Given the description of an element on the screen output the (x, y) to click on. 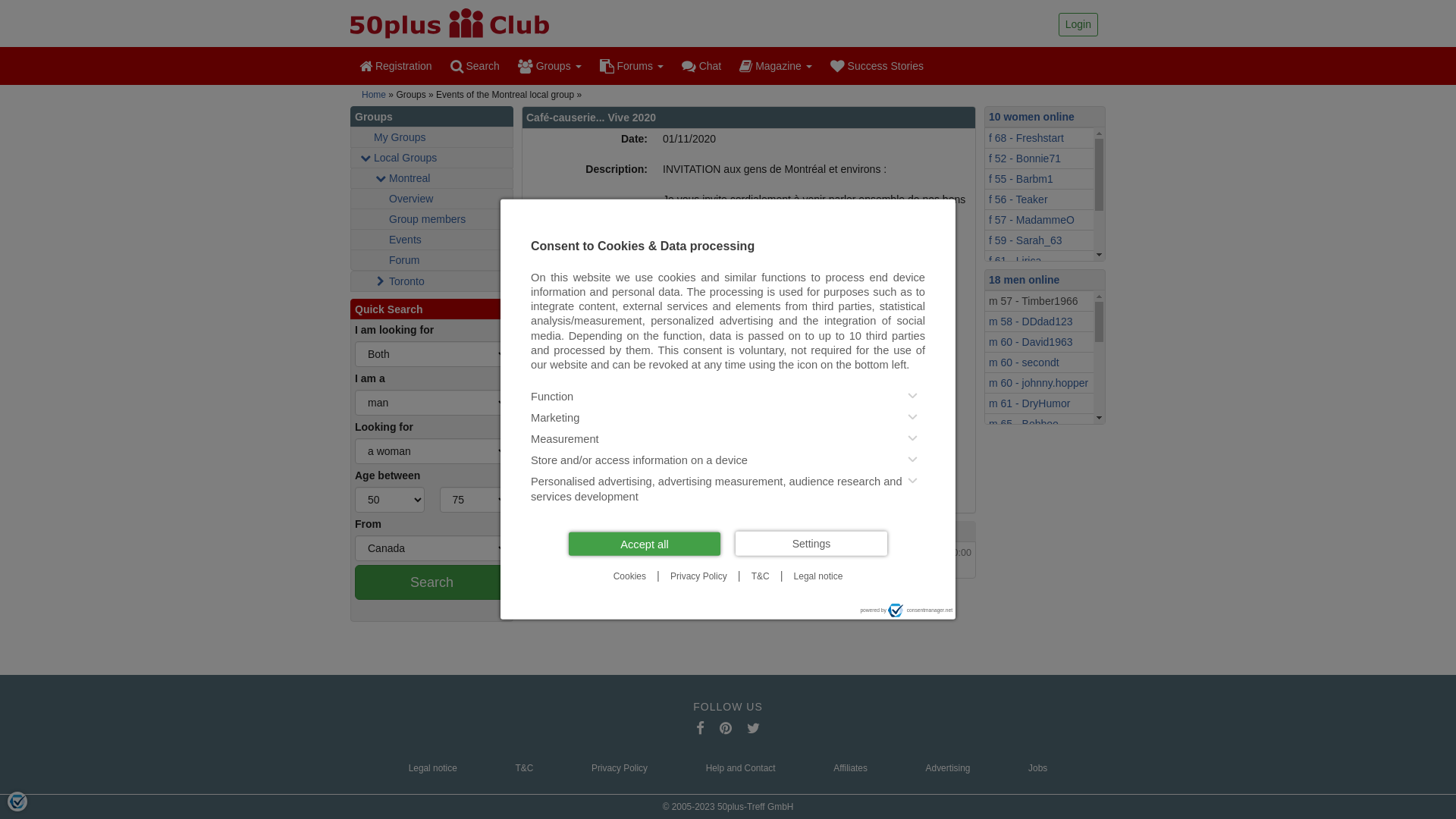
m 65 - tdbrad Element type: text (1039, 587)
Registration Element type: text (395, 65)
m 58 - DDdad123 Element type: text (1039, 321)
f 57 - MadammeO Element type: text (1039, 219)
Magazine Element type: text (775, 65)
Privacy Policy Element type: text (619, 768)
f 61 - Lirica Element type: text (1039, 260)
Advertising Element type: text (947, 768)
m 60 - johnny.hopper Element type: text (1039, 382)
Success Stories Element type: text (876, 65)
11/30/-0001 00:00 Element type: text (748, 567)
Search Element type: text (431, 581)
f 52 - Bonnie71 Element type: text (1039, 158)
Search Element type: text (474, 65)
m 76 - davdei Element type: text (1039, 648)
m 70 - Garygg Element type: text (1039, 628)
Home Element type: text (373, 94)
Forums Element type: text (631, 65)
Login Element type: text (1078, 24)
Quick Search Element type: text (431, 308)
f 68 - Freshstart Element type: text (1039, 137)
f 55 - Barbm1 Element type: text (1039, 178)
m 65 - Bobboo Element type: text (1039, 423)
m 65 - 8675309 Element type: text (1039, 566)
m 57 - Timber1966 Element type: text (1039, 300)
10 women online Element type: text (1031, 116)
Legal notice Element type: text (432, 768)
18 men online Element type: text (1023, 279)
Folow us on Twitter Element type: hover (753, 727)
Overview Element type: text (431, 198)
Jobs Element type: text (1037, 768)
Forum Element type: text (431, 259)
Affiliates Element type: text (850, 768)
f 71 - Whitekayak Element type: text (1039, 321)
f 56 - Teaker Element type: text (1039, 199)
m 57 - Giovleo Element type: text (1039, 546)
Folow us on Facebook Element type: hover (700, 727)
m 67 - JohnnyH1956 Element type: text (1039, 607)
Group members Element type: text (431, 218)
My Groups Element type: text (431, 136)
Local Groups Element type: text (431, 157)
Folow us on Pinterest Element type: hover (725, 727)
m 87 - PeterGB Element type: text (1039, 505)
Help and Contact Element type: text (740, 768)
m 60 - David1963 Element type: text (1039, 341)
Montreal Element type: text (431, 177)
Groups Element type: text (549, 65)
Events Element type: text (431, 239)
T&C Element type: text (523, 768)
m 67 - Frenchcyclist Element type: text (1039, 464)
f 63 - portechance Element type: text (1039, 280)
m 57 - Guitarman66 Element type: text (1039, 525)
m 65 - Jimmyjoe111 Element type: text (1039, 444)
m 81 - woodworkerEd Element type: text (1039, 484)
m 60 - secondt Element type: text (1039, 362)
m 61 - DryHumor Element type: text (1039, 403)
f 64 - Hakuna22 Element type: text (1039, 301)
Chat Element type: text (701, 65)
Toronto Element type: text (431, 280)
f 59 - Sarah_63 Element type: text (1039, 240)
